Given the description of an element on the screen output the (x, y) to click on. 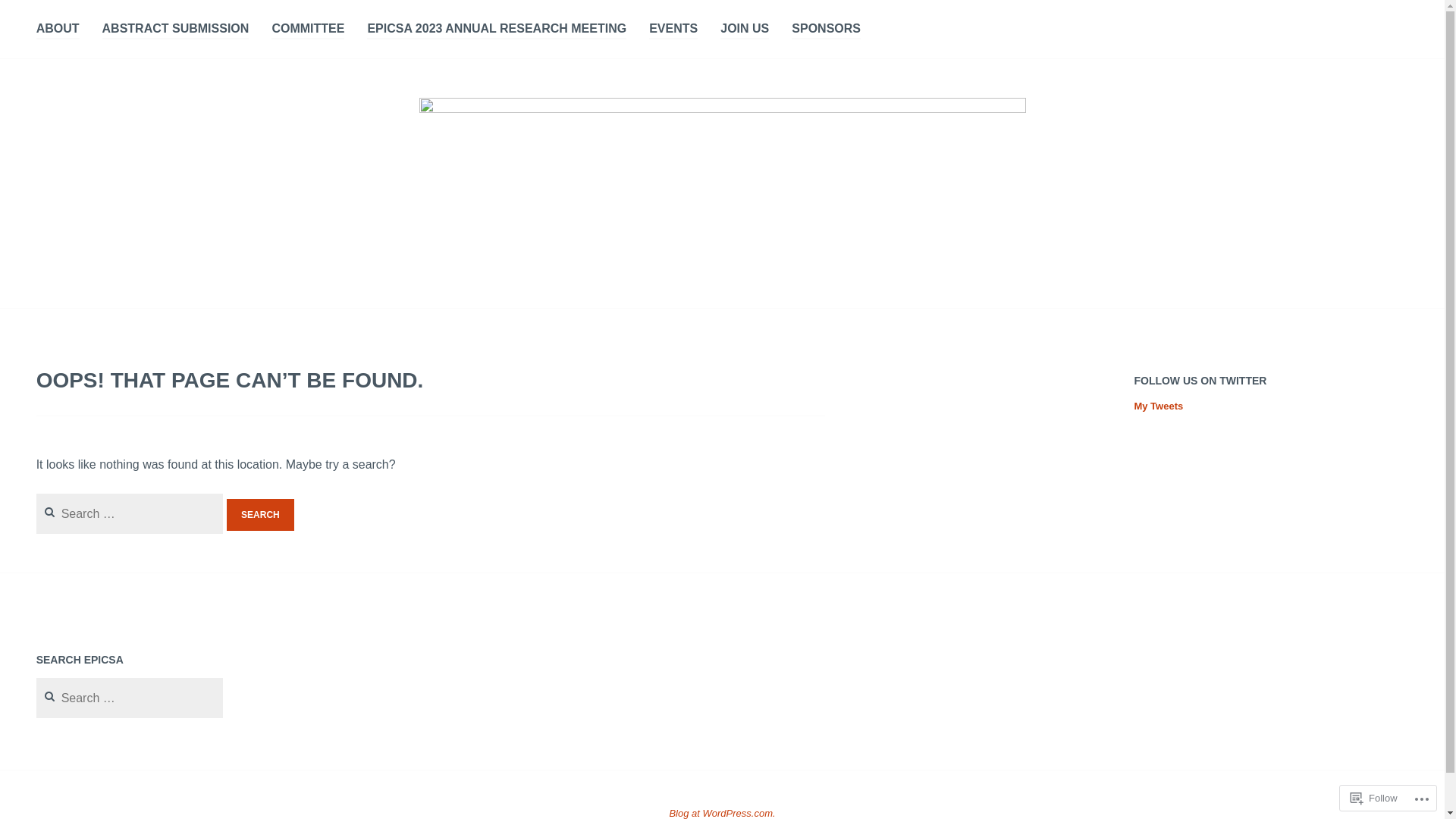
EPICSA Element type: text (89, 287)
EPICSA 2023 ANNUAL RESEARCH MEETING Element type: text (496, 29)
Search Element type: text (33, 15)
My Tweets Element type: text (1158, 406)
EVENTS Element type: text (673, 29)
Search Element type: text (260, 514)
Follow Element type: text (1373, 797)
ABSTRACT SUBMISSION Element type: text (175, 29)
COMMITTEE Element type: text (307, 29)
ABOUT Element type: text (57, 29)
SPONSORS Element type: text (825, 29)
JOIN US Element type: text (744, 29)
